Given the description of an element on the screen output the (x, y) to click on. 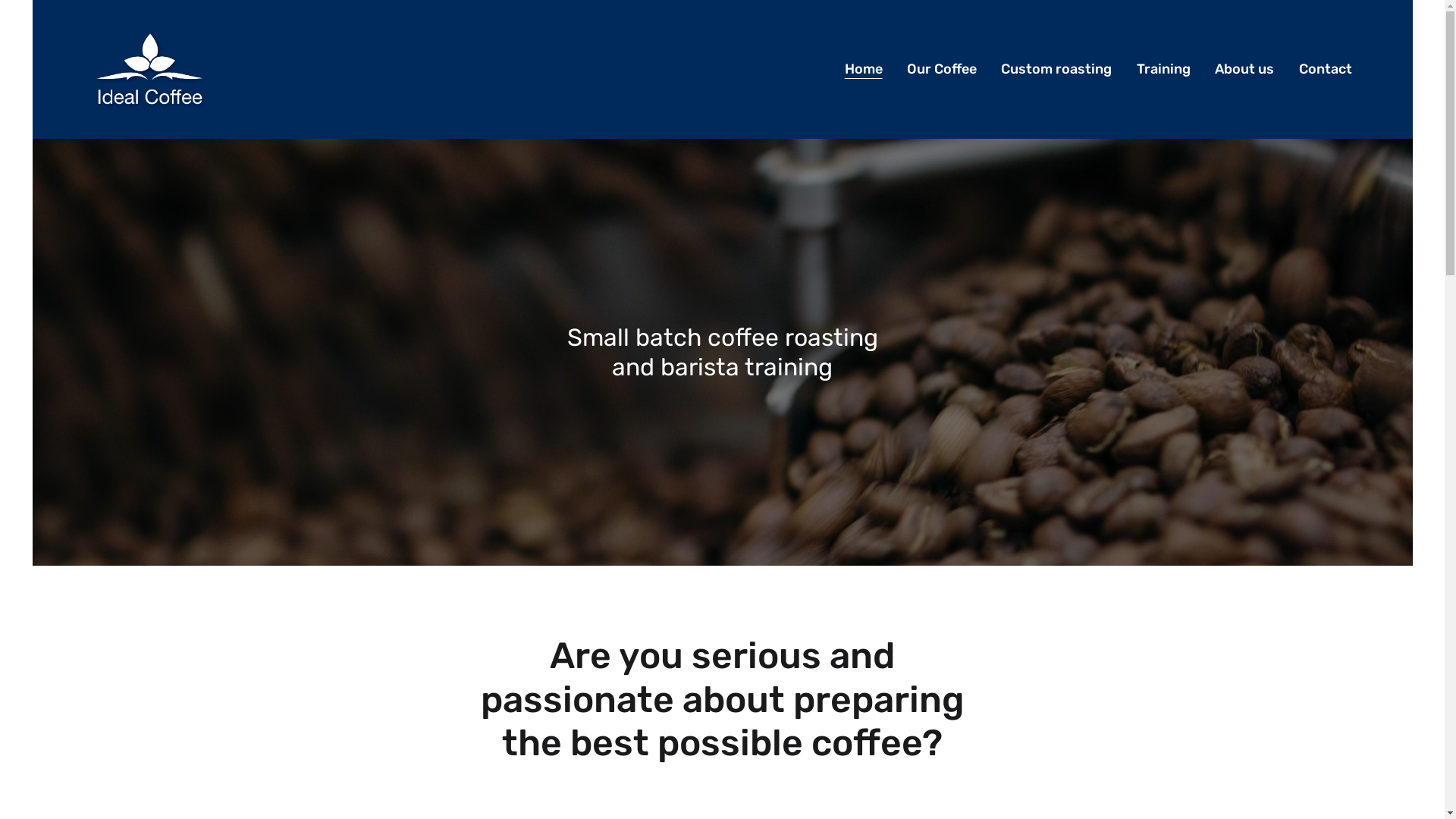
Contact Element type: text (1324, 69)
Our Coffee Element type: text (941, 69)
About us Element type: text (1243, 69)
Custom roasting Element type: text (1056, 69)
Training Element type: text (1163, 69)
Home Element type: text (862, 69)
